Given the description of an element on the screen output the (x, y) to click on. 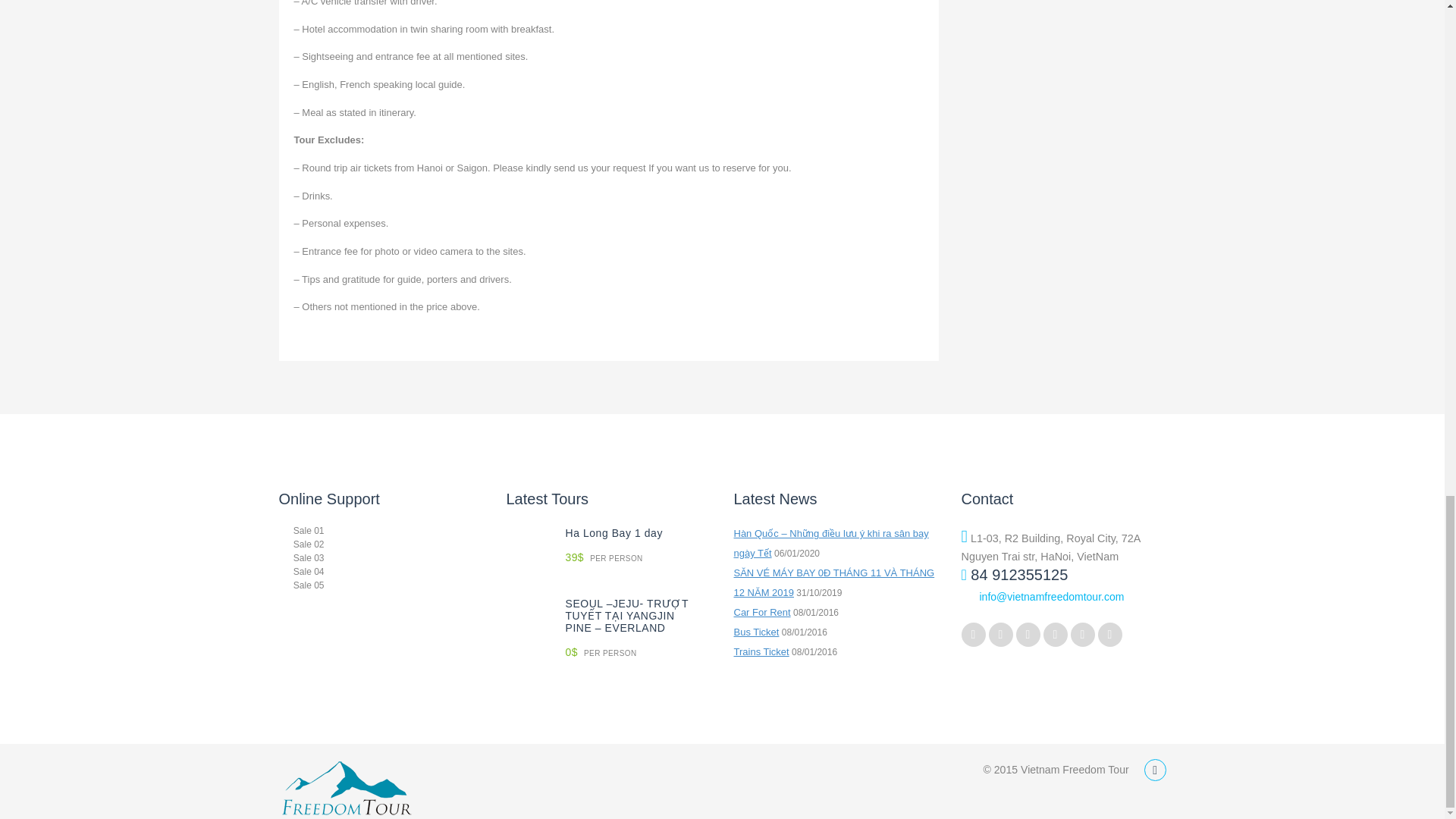
youtube (1055, 634)
skype (1109, 634)
twitter (972, 634)
pinterest (1028, 634)
instagram (1082, 634)
facebook (1000, 634)
